Given the description of an element on the screen output the (x, y) to click on. 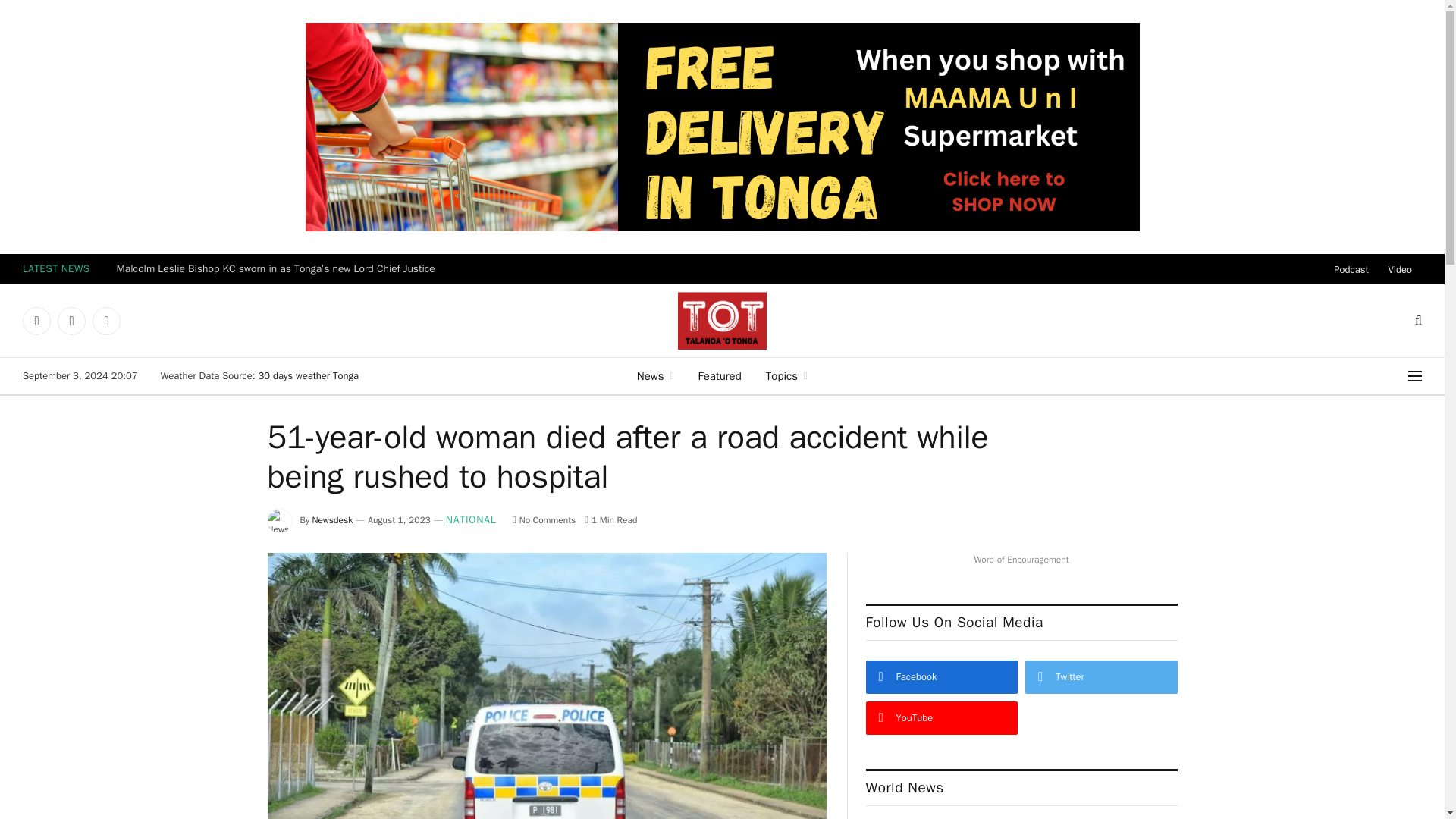
Podcast (1350, 268)
News (654, 375)
30 days weather Tonga (307, 375)
Talanoa o Tonga (722, 320)
Video (1400, 268)
Topics (786, 375)
Featured (719, 375)
Newsdesk (333, 520)
Facebook (36, 320)
